Given the description of an element on the screen output the (x, y) to click on. 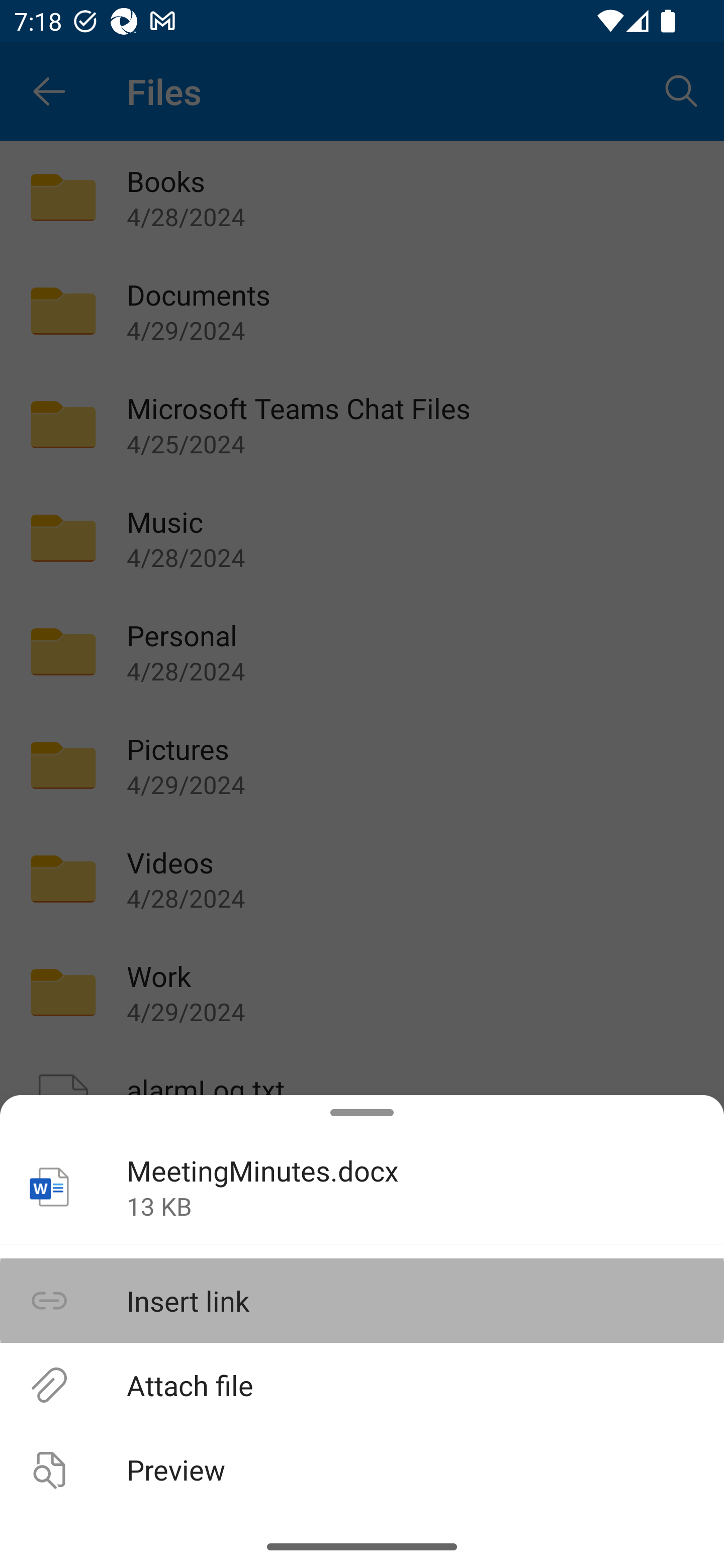
Insert link (362, 1300)
Attach file (362, 1384)
Preview (362, 1468)
